Given the description of an element on the screen output the (x, y) to click on. 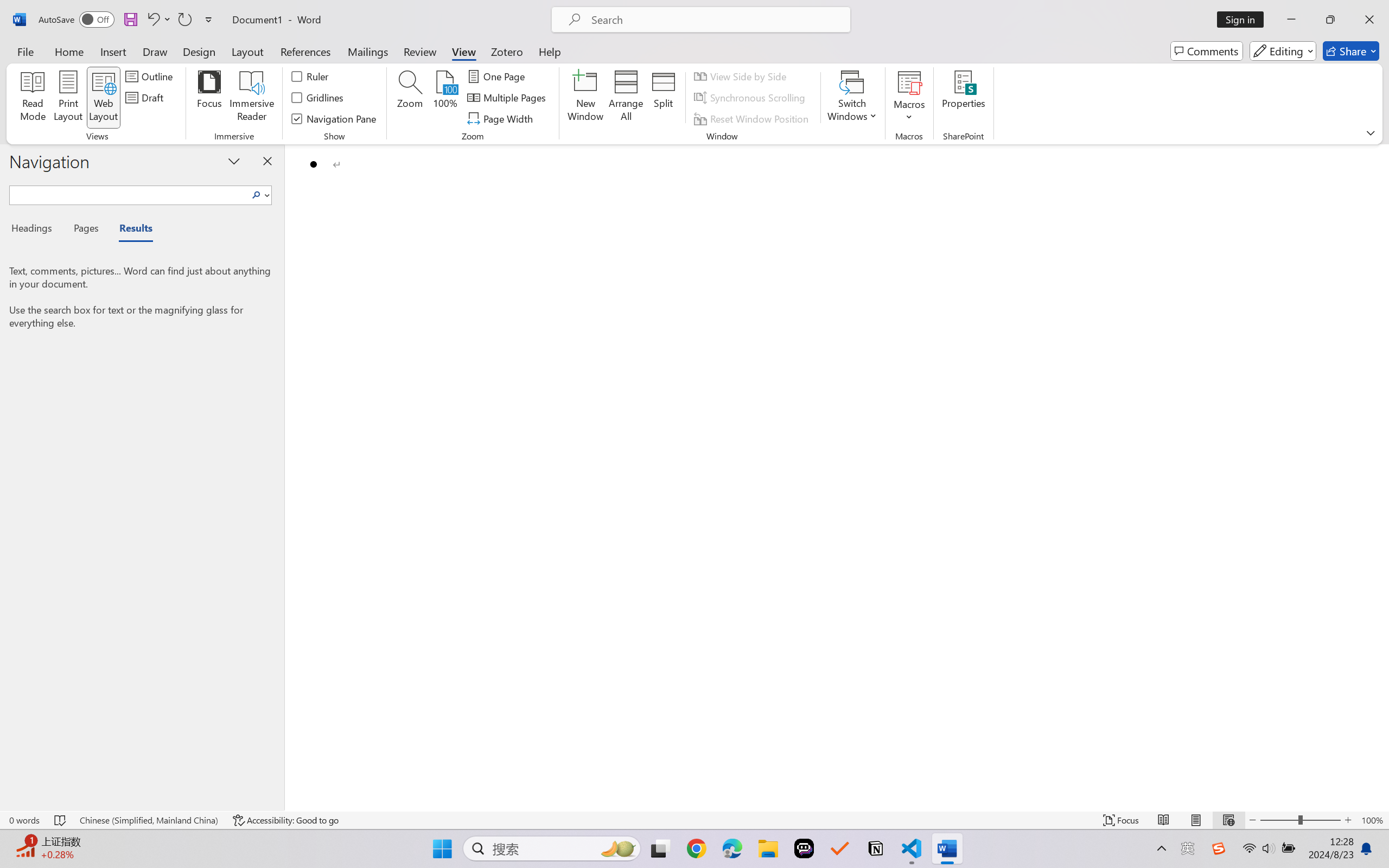
Properties (963, 97)
Macros (909, 97)
Gridlines (317, 97)
Split (663, 97)
Zoom 100% (1372, 819)
Outline (150, 75)
